Given the description of an element on the screen output the (x, y) to click on. 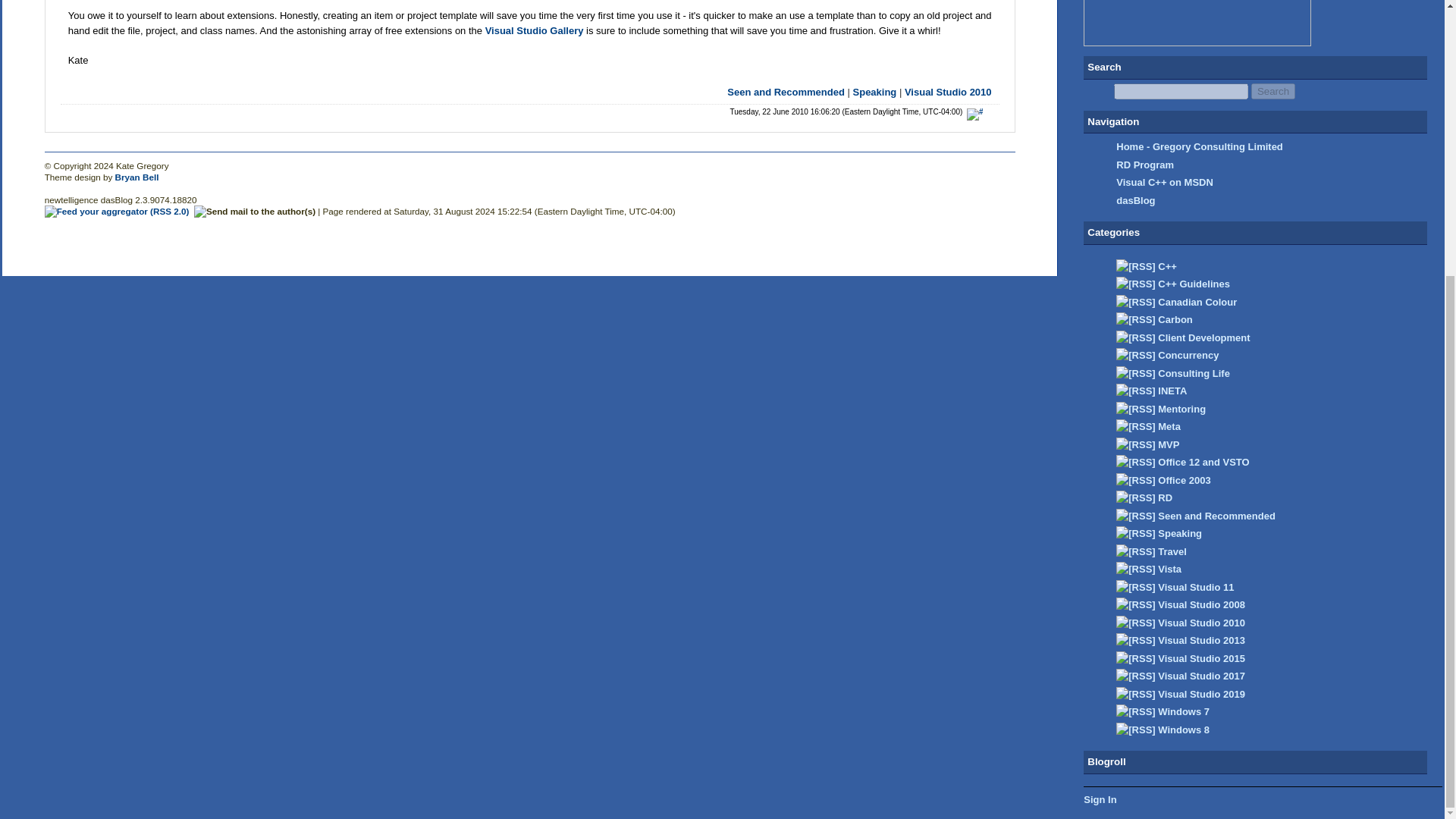
Canadian Colour (1196, 301)
Home - Gregory Consulting Limited (1199, 146)
Client Development (1203, 337)
Carbon (1174, 319)
Visual Studio Gallery (533, 30)
dasBlog (1135, 200)
Bryan Bell (136, 176)
Search (1272, 91)
Speaking (874, 91)
